Given the description of an element on the screen output the (x, y) to click on. 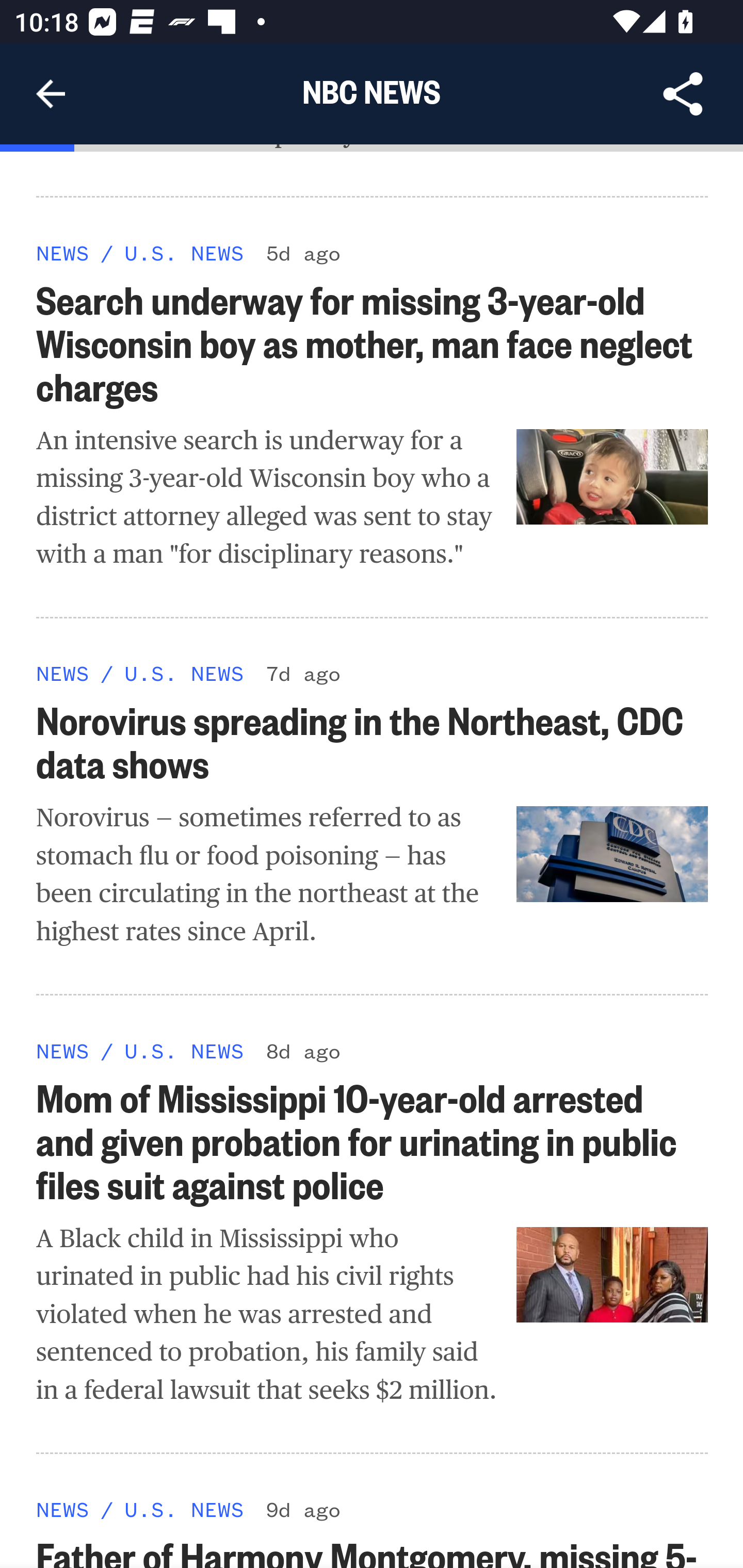
Navigate up (50, 93)
Share Article, button (683, 94)
NEWS NEWS NEWS (63, 251)
U.S. NEWS U.S. NEWS U.S. NEWS (183, 251)
NEWS NEWS NEWS (63, 673)
U.S. NEWS U.S. NEWS U.S. NEWS (183, 673)
norovirus-spreading-northeast-cdc-rcna140260 (612, 854)
NEWS NEWS NEWS (63, 1050)
U.S. NEWS U.S. NEWS U.S. NEWS (183, 1050)
NEWS NEWS NEWS (63, 1507)
U.S. NEWS U.S. NEWS U.S. NEWS (183, 1507)
